Given the description of an element on the screen output the (x, y) to click on. 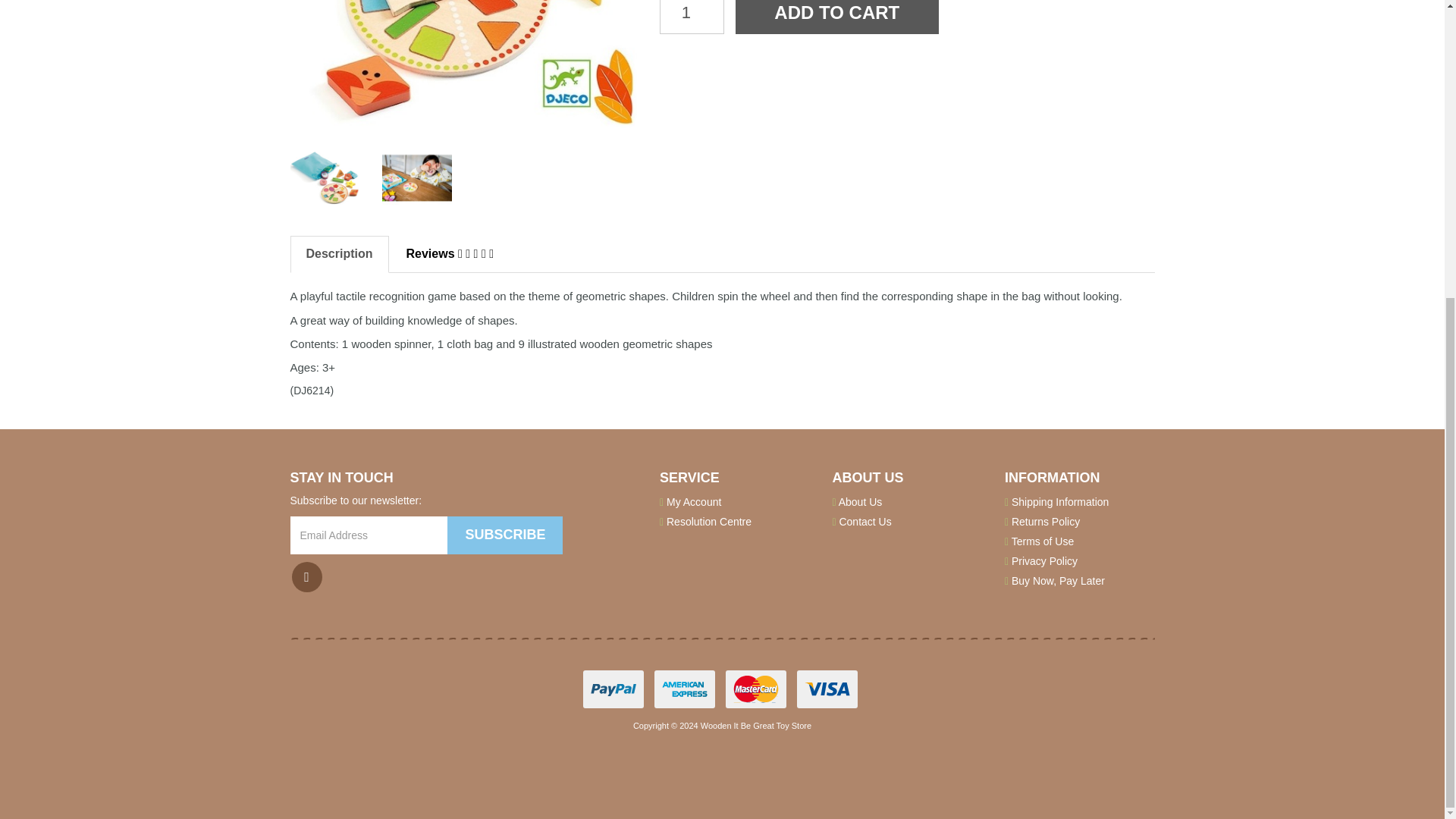
Large View (324, 177)
1 (691, 17)
Large View (416, 177)
Subscribe (504, 535)
Add to Cart (837, 17)
